Given the description of an element on the screen output the (x, y) to click on. 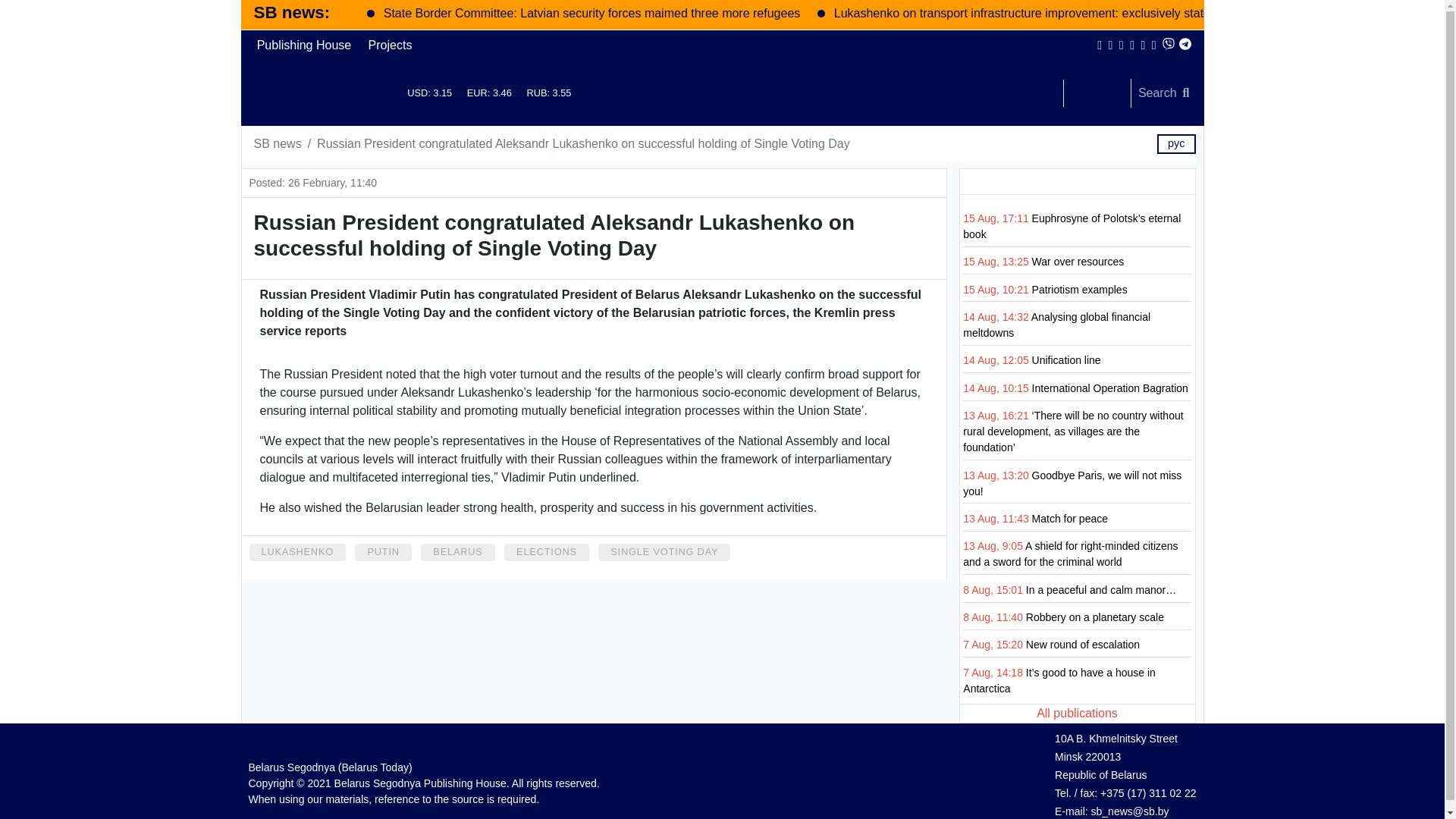
Publishing House (303, 45)
SB news: (291, 12)
Projects (389, 45)
